Given the description of an element on the screen output the (x, y) to click on. 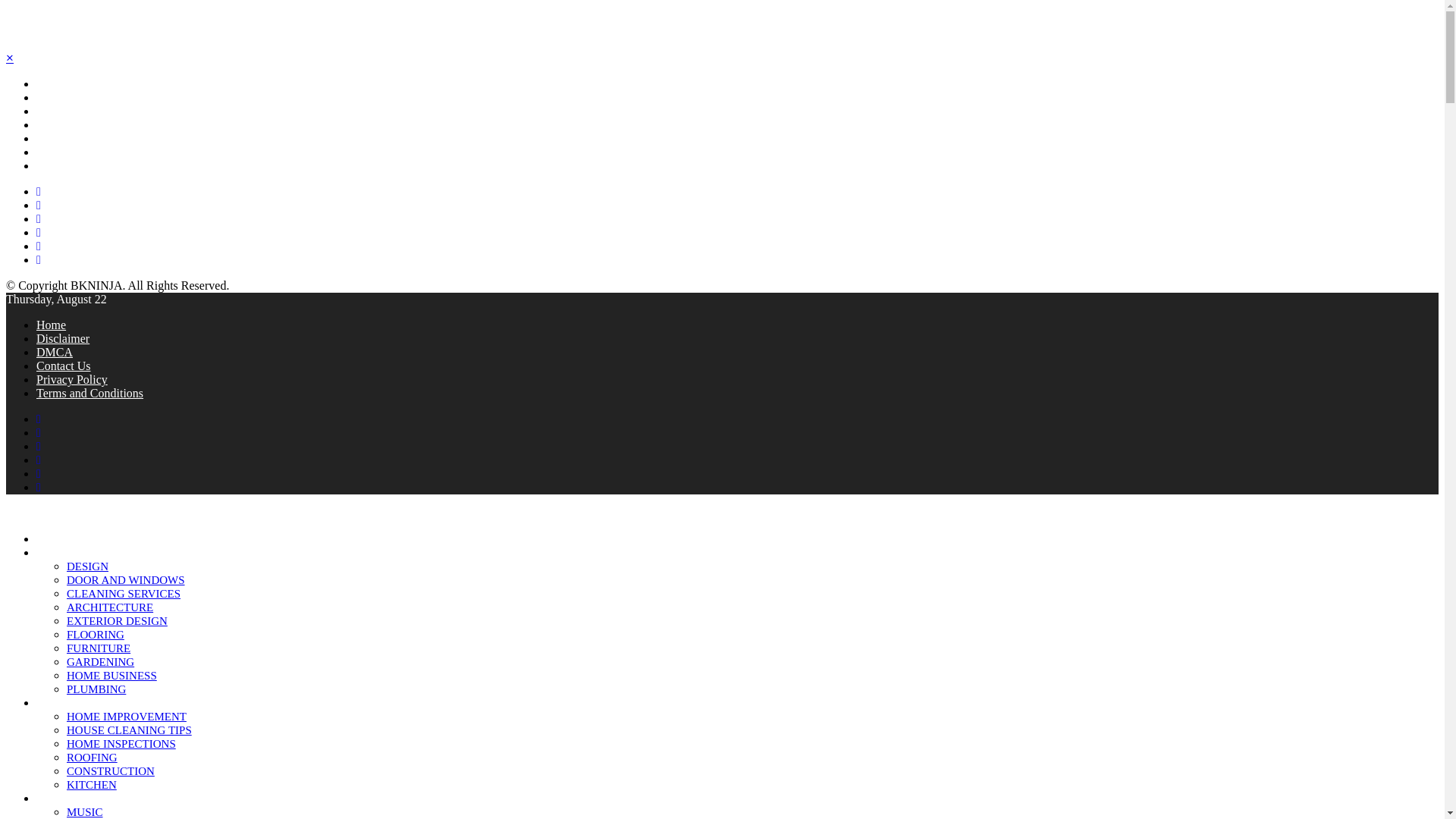
Interior (52, 111)
FLOORING (94, 634)
Home (50, 324)
DECOR (55, 552)
Lifestyle (56, 124)
Contact Us (61, 165)
DOOR AND WINDOWS (125, 580)
CLEANING SERVICES (123, 593)
HOME BUSINESS (111, 675)
Privacy Policy (71, 379)
